Given the description of an element on the screen output the (x, y) to click on. 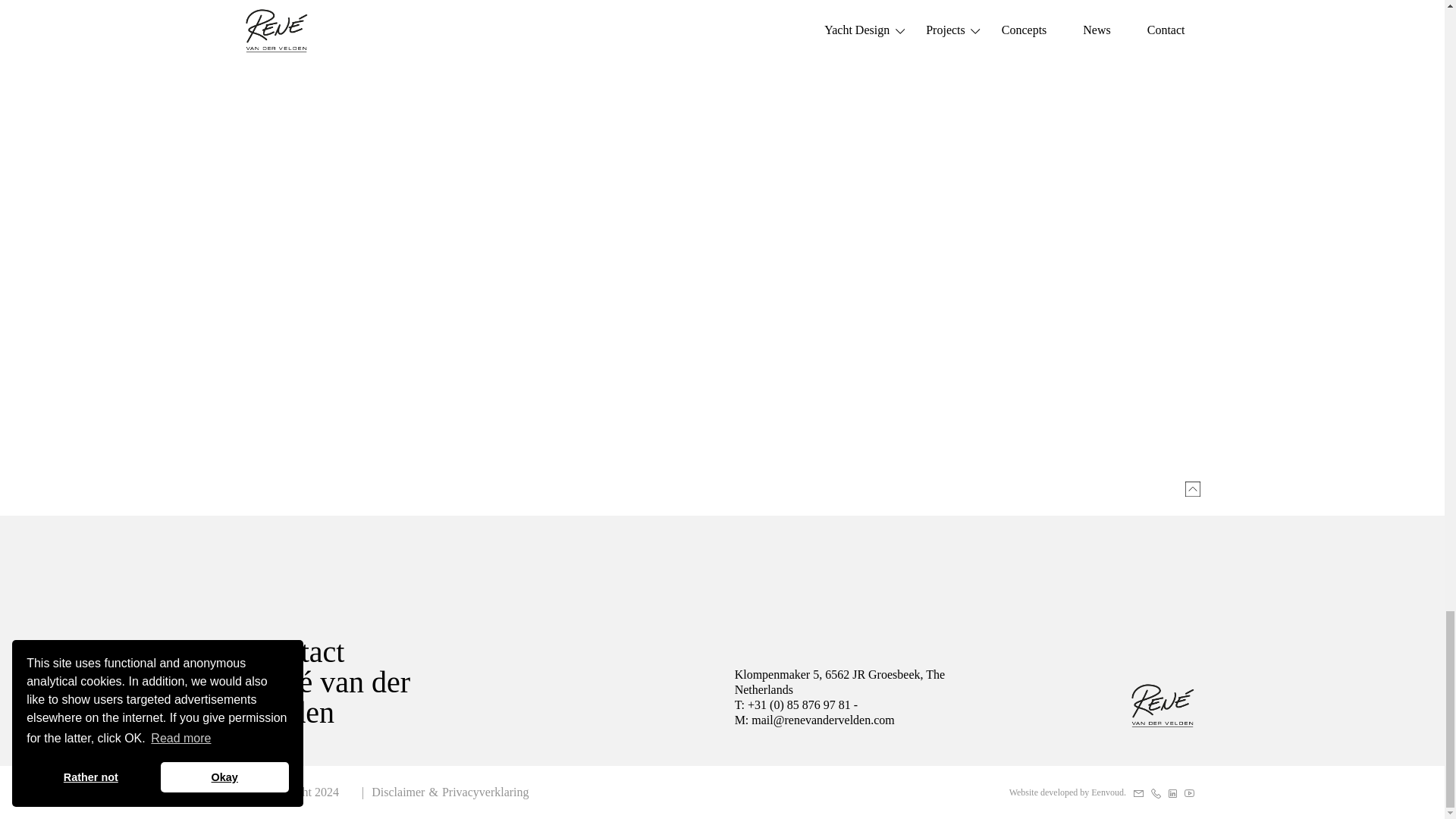
Disclaimer (398, 792)
Website developed by Eenvoud. (1067, 792)
Privacyverklaring (485, 792)
Klompenmaker 5, 6562 JR Groesbeek, The Netherlands (867, 682)
